Given the description of an element on the screen output the (x, y) to click on. 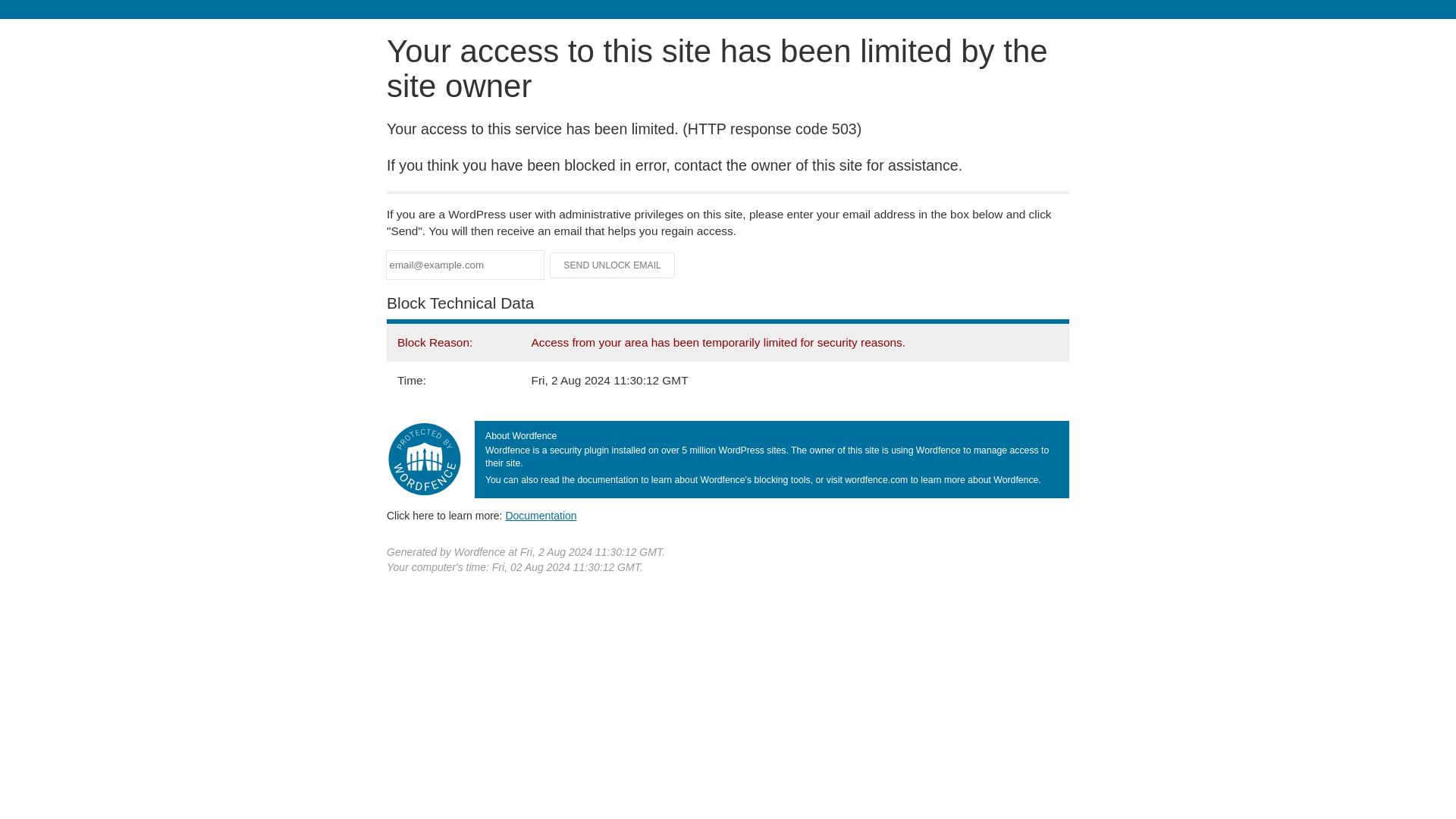
Documentation (540, 515)
Send Unlock Email (612, 265)
Send Unlock Email (612, 265)
